Given the description of an element on the screen output the (x, y) to click on. 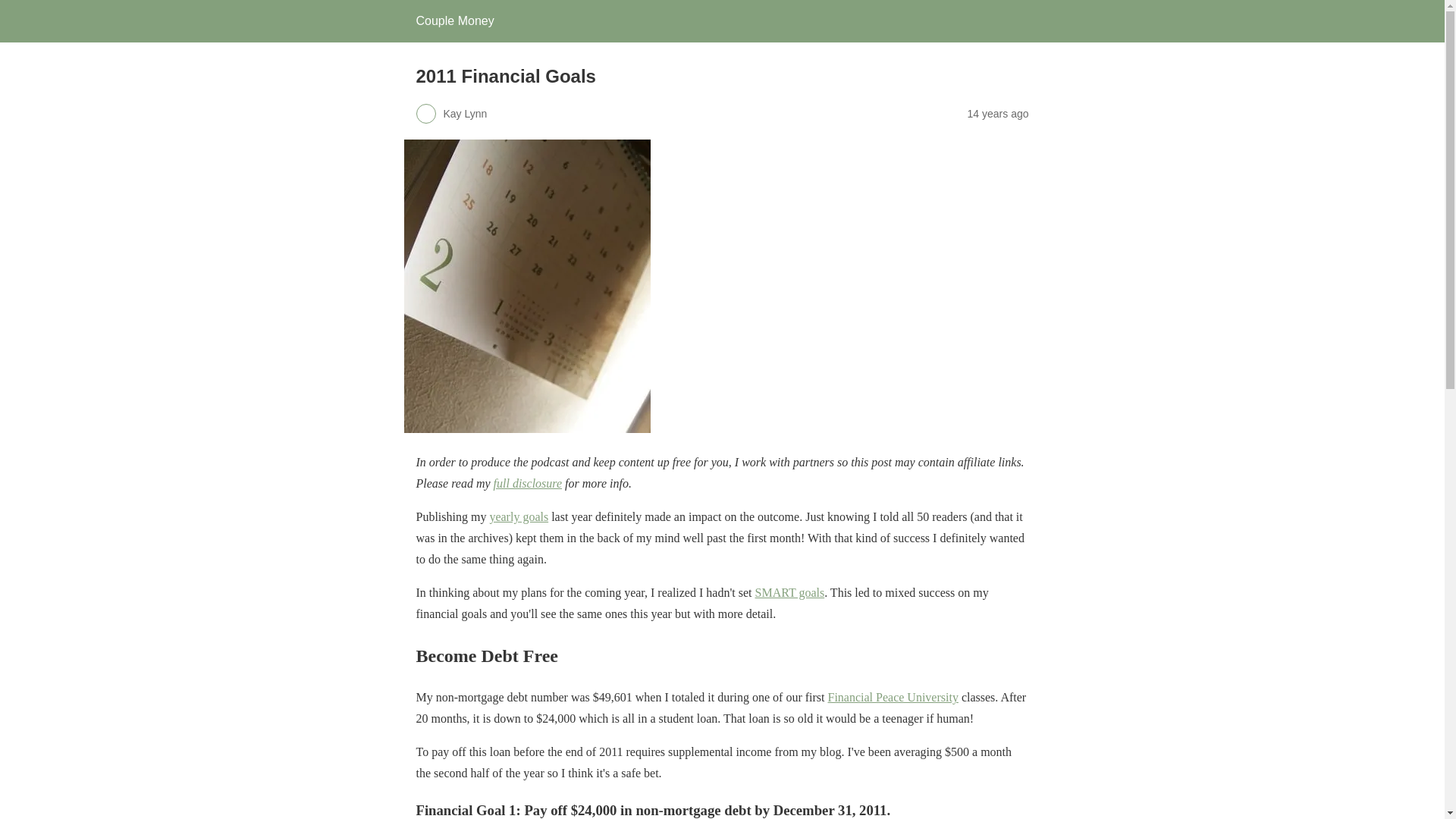
Couple Money (453, 20)
SMART goals (790, 592)
yearly goals (518, 516)
full disclosure (527, 482)
Financial Peace University (893, 697)
